Given the description of an element on the screen output the (x, y) to click on. 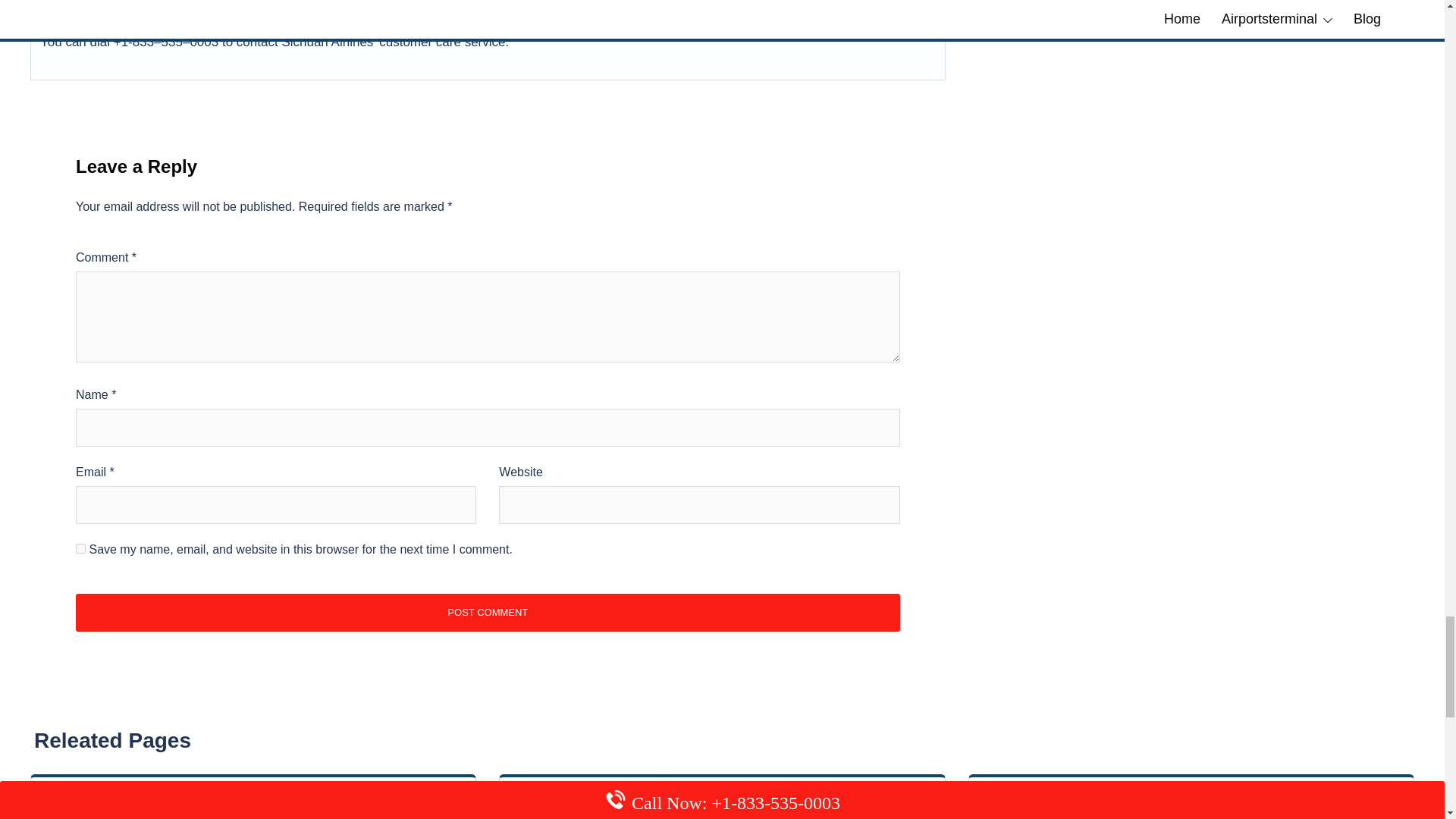
Post Comment (487, 612)
yes (80, 548)
